Given the description of an element on the screen output the (x, y) to click on. 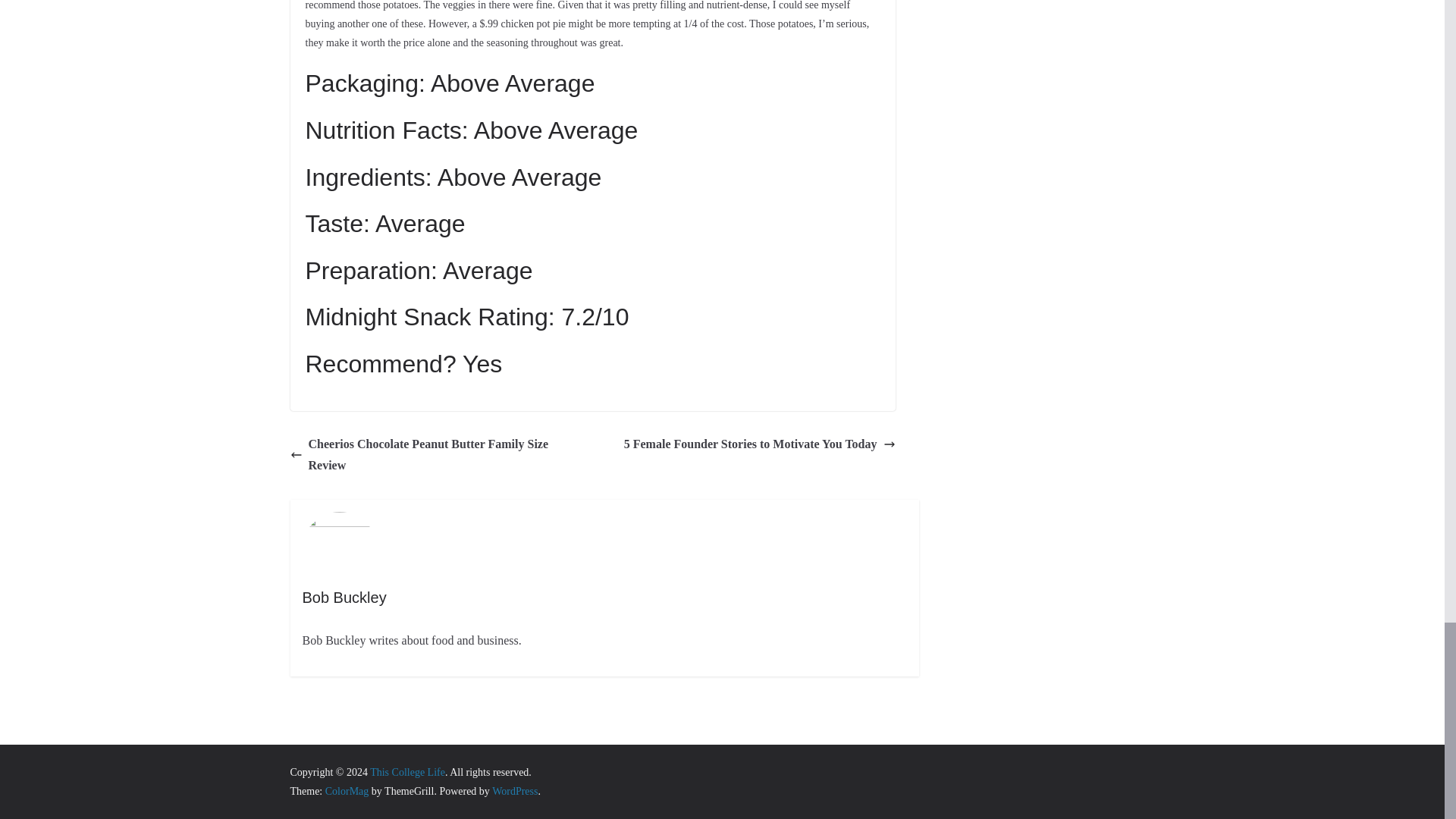
WordPress (514, 790)
ColorMag (346, 790)
This College Life (407, 772)
